Given the description of an element on the screen output the (x, y) to click on. 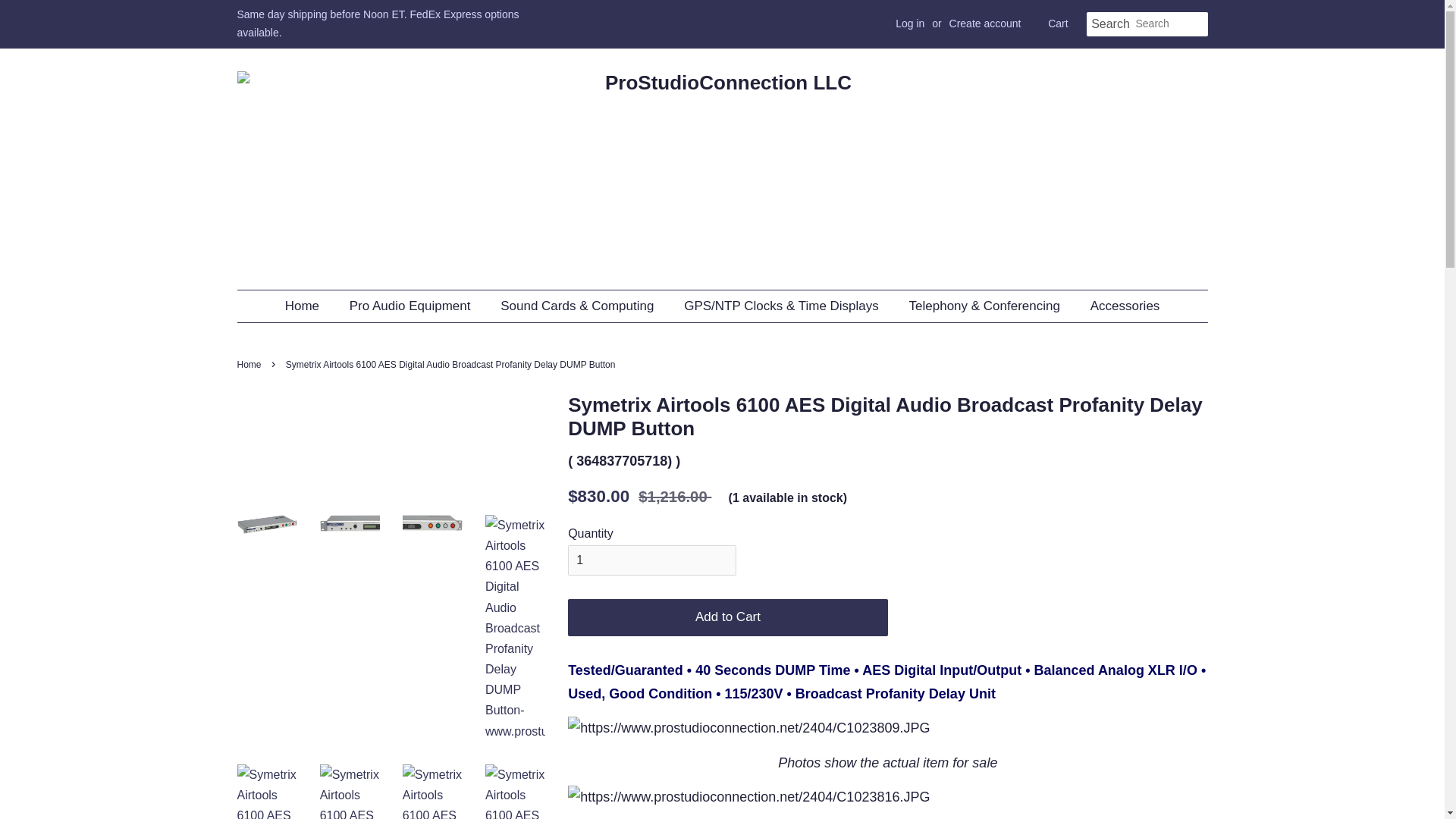
Create account (985, 23)
Log in (909, 23)
1 (651, 560)
Cart (1057, 24)
Back to the frontpage (249, 364)
Search (1110, 24)
